Given the description of an element on the screen output the (x, y) to click on. 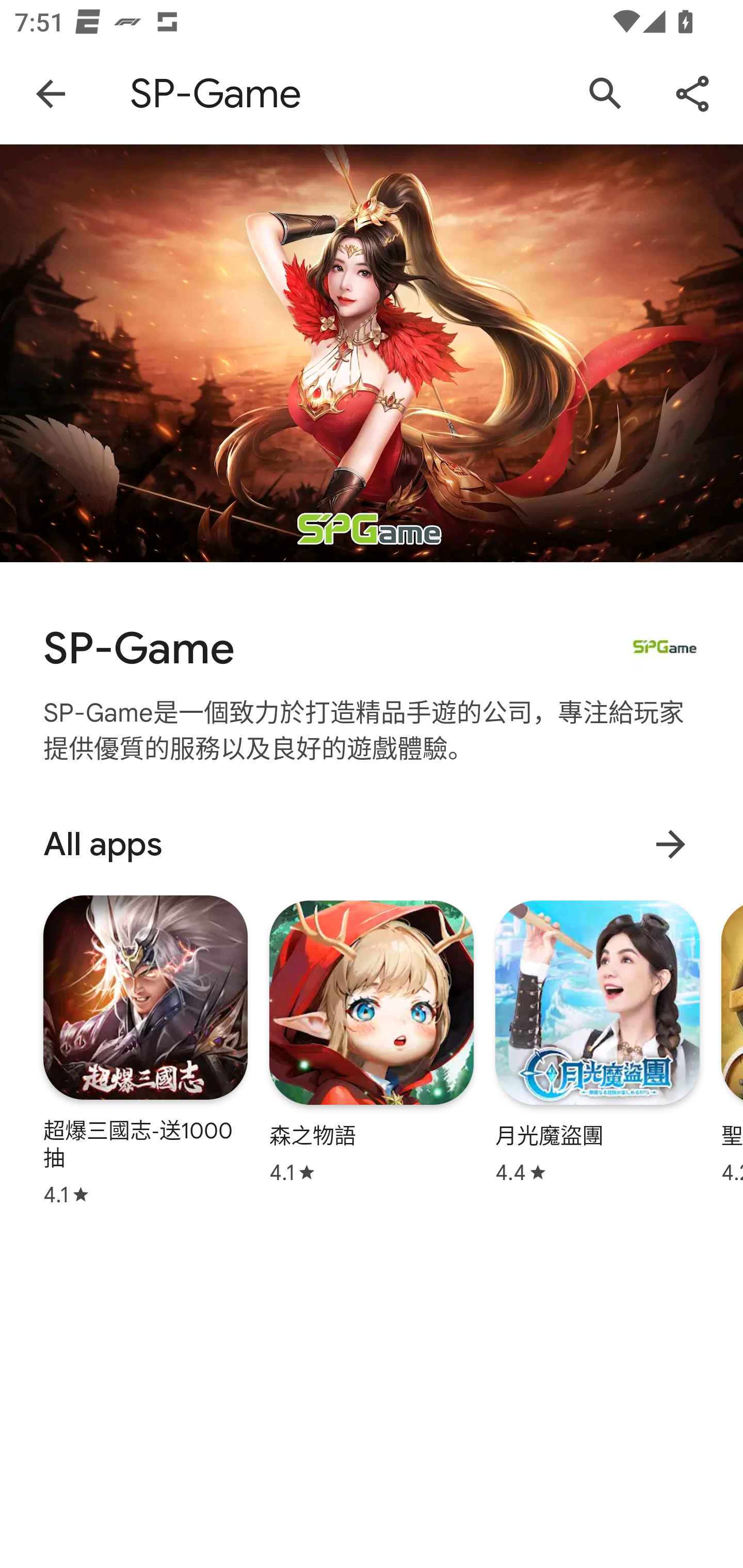
Navigate up (50, 93)
Search Google Play (605, 93)
Share (692, 93)
All apps More results for All apps (371, 844)
More results for All apps (670, 844)
超爆三國志-送1000抽
Star rating: 4.1
 (145, 1050)
森之物語
Star rating: 4.1
 (371, 1041)
月光魔盜團
Star rating: 4.4
 (597, 1041)
